Given the description of an element on the screen output the (x, y) to click on. 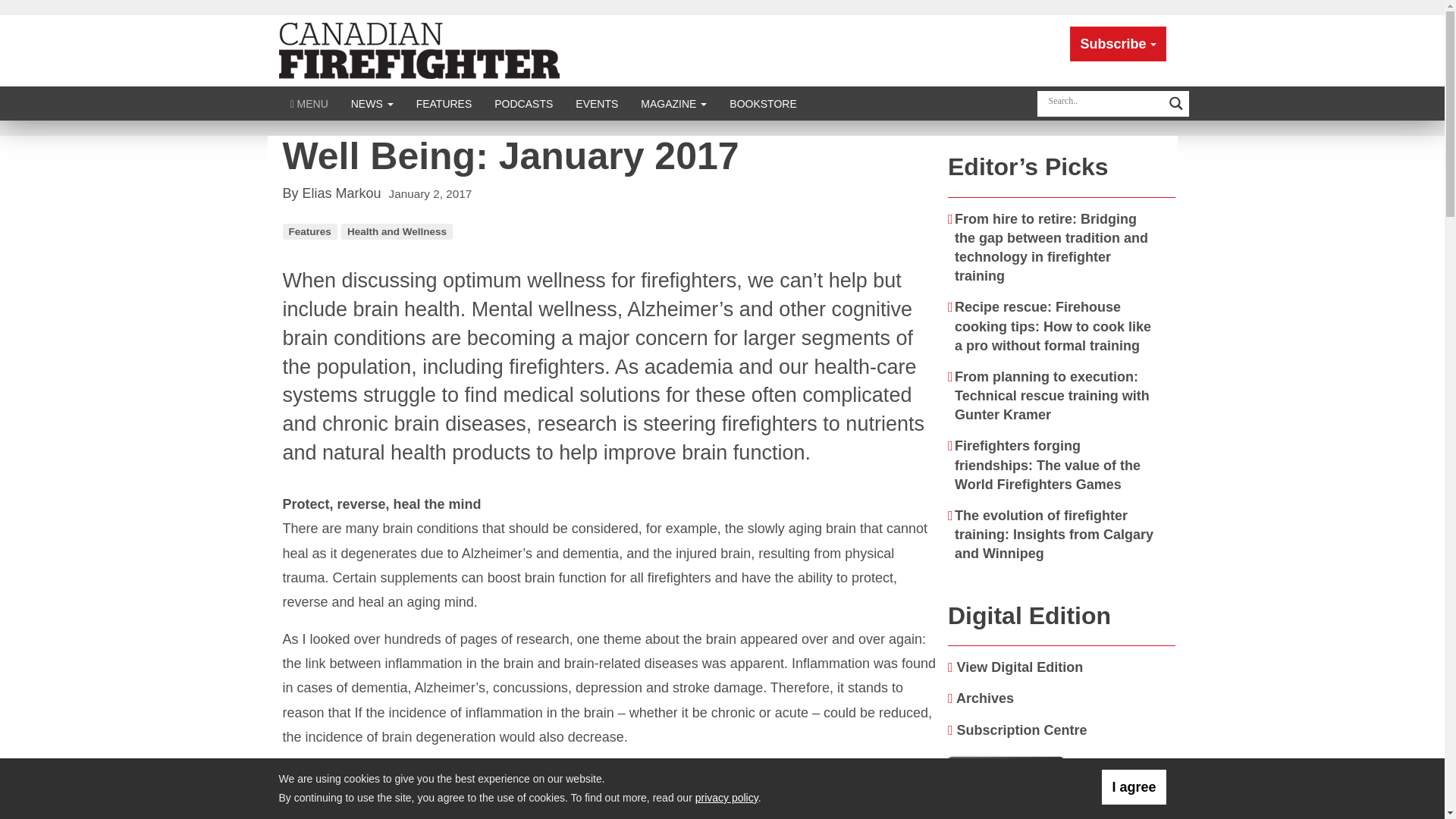
MAGAZINE (672, 103)
NEWS (371, 103)
BOOKSTORE (762, 103)
Click to show site navigation (309, 103)
FEATURES (443, 103)
MENU (309, 103)
Subscribe (1118, 43)
Canadian Firefighter Magazine (419, 49)
PODCASTS (523, 103)
EVENTS (596, 103)
